Given the description of an element on the screen output the (x, y) to click on. 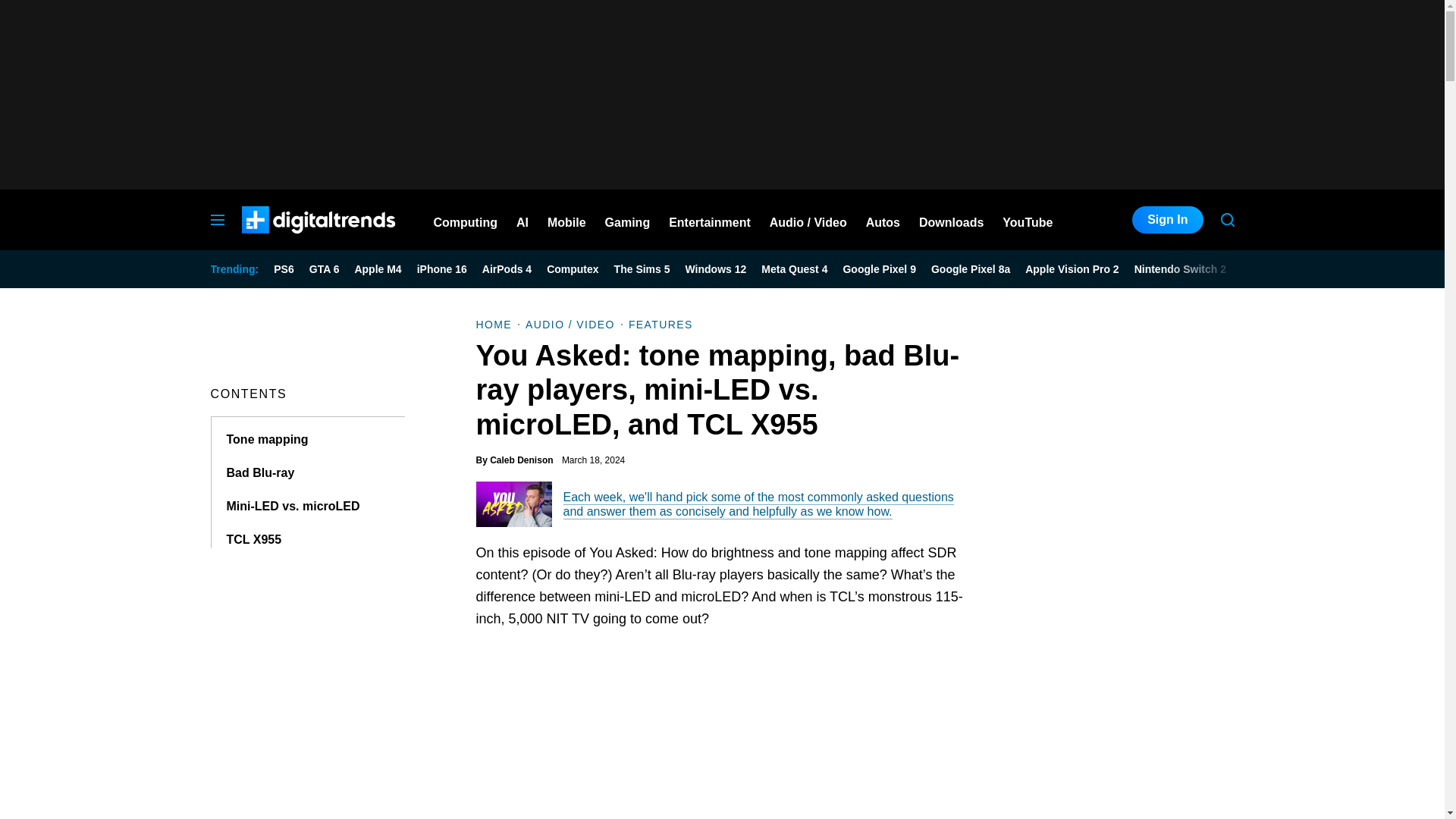
Computing (465, 219)
Sign In (1167, 219)
Downloads (951, 219)
Entertainment (709, 219)
